Given the description of an element on the screen output the (x, y) to click on. 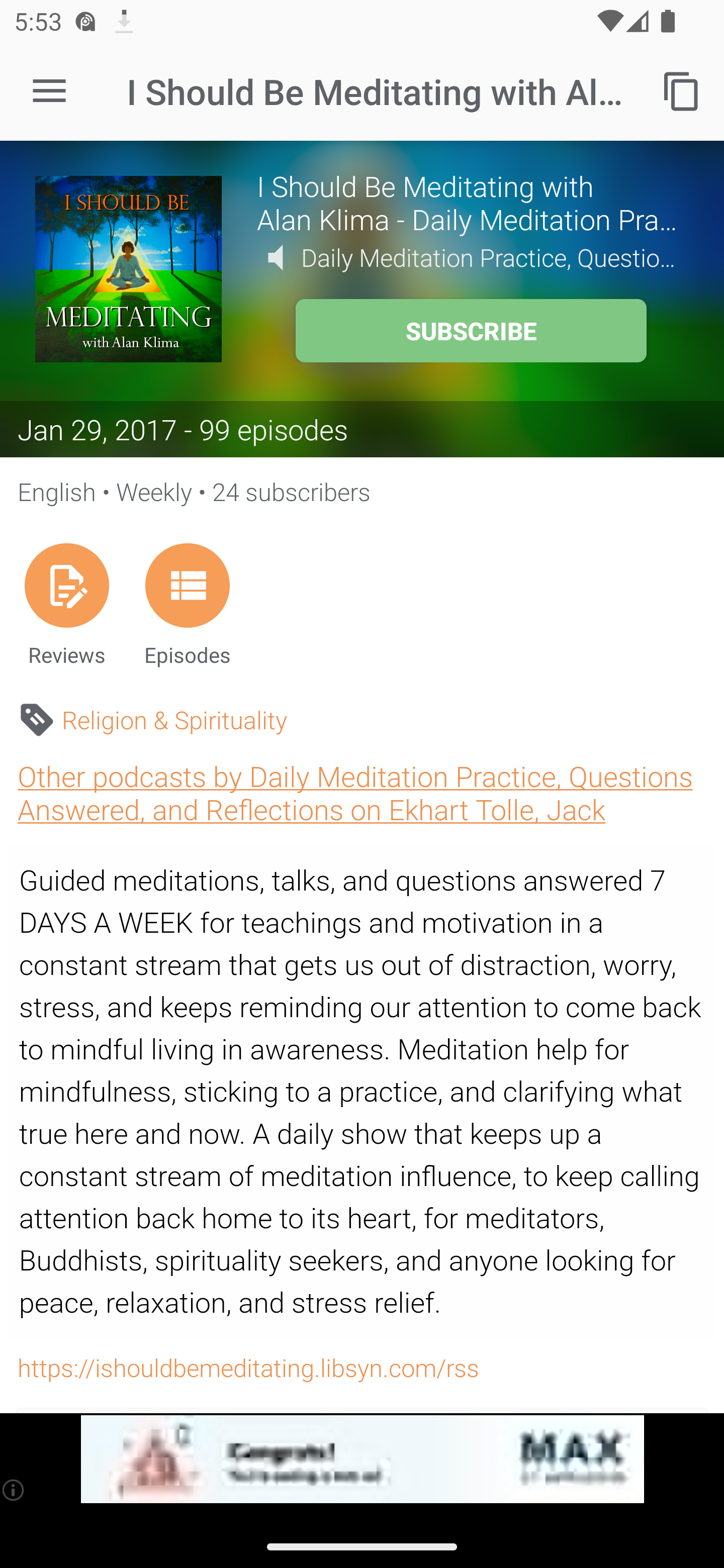
Open navigation sidebar (49, 91)
Copy feed url to clipboard (681, 90)
SUBSCRIBE (470, 330)
Reviews (66, 604)
Episodes (187, 604)
app-monetization (362, 1459)
(i) (14, 1489)
